Given the description of an element on the screen output the (x, y) to click on. 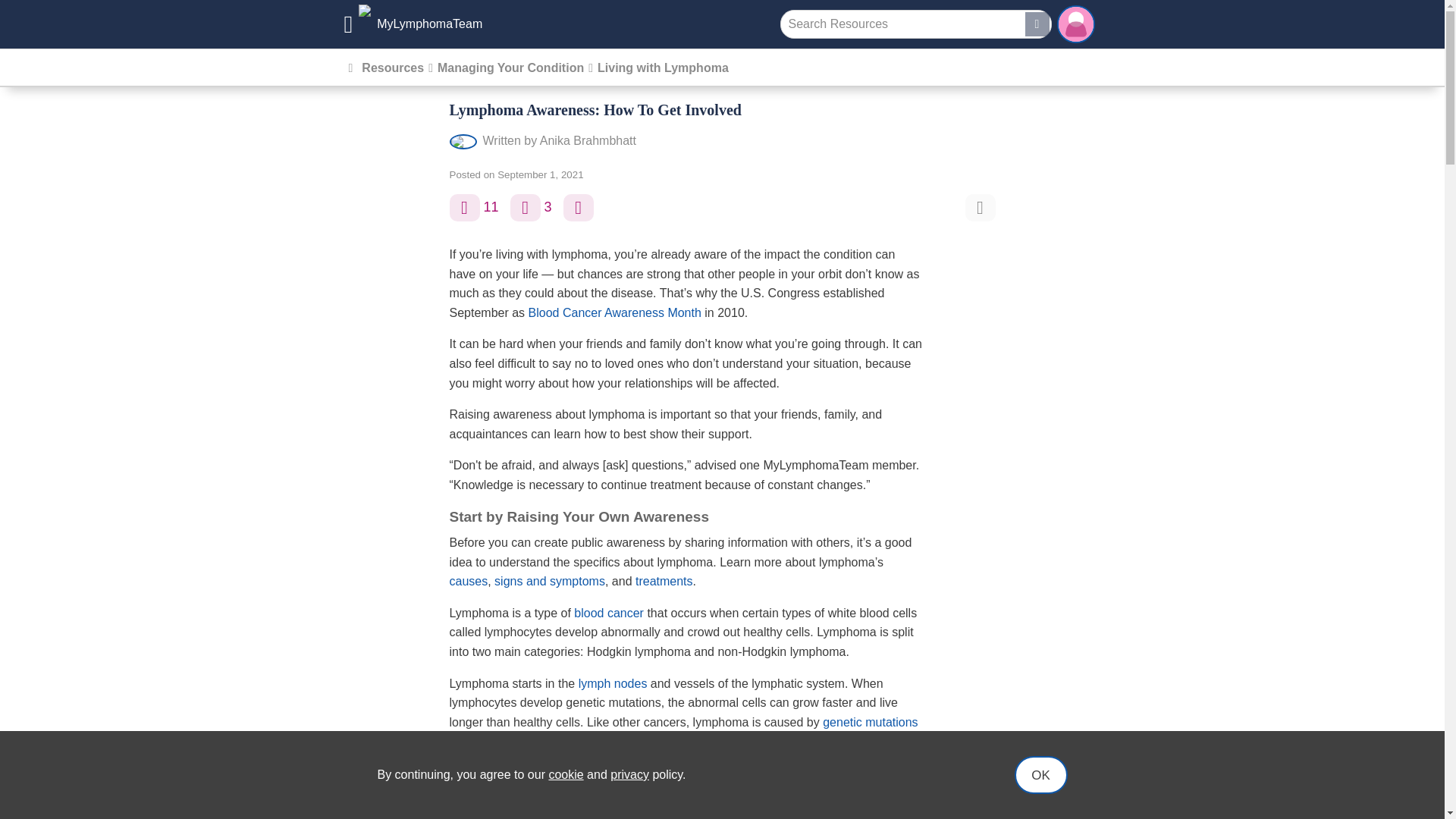
privacy (629, 774)
cookie (565, 774)
I like this (463, 207)
Resources (392, 67)
OK (1040, 774)
Add a comment (525, 207)
Ask a question (578, 207)
MyLymphomaTeam (413, 23)
Anika Brahmbhatt (588, 140)
Living with Lymphoma (662, 67)
